Given the description of an element on the screen output the (x, y) to click on. 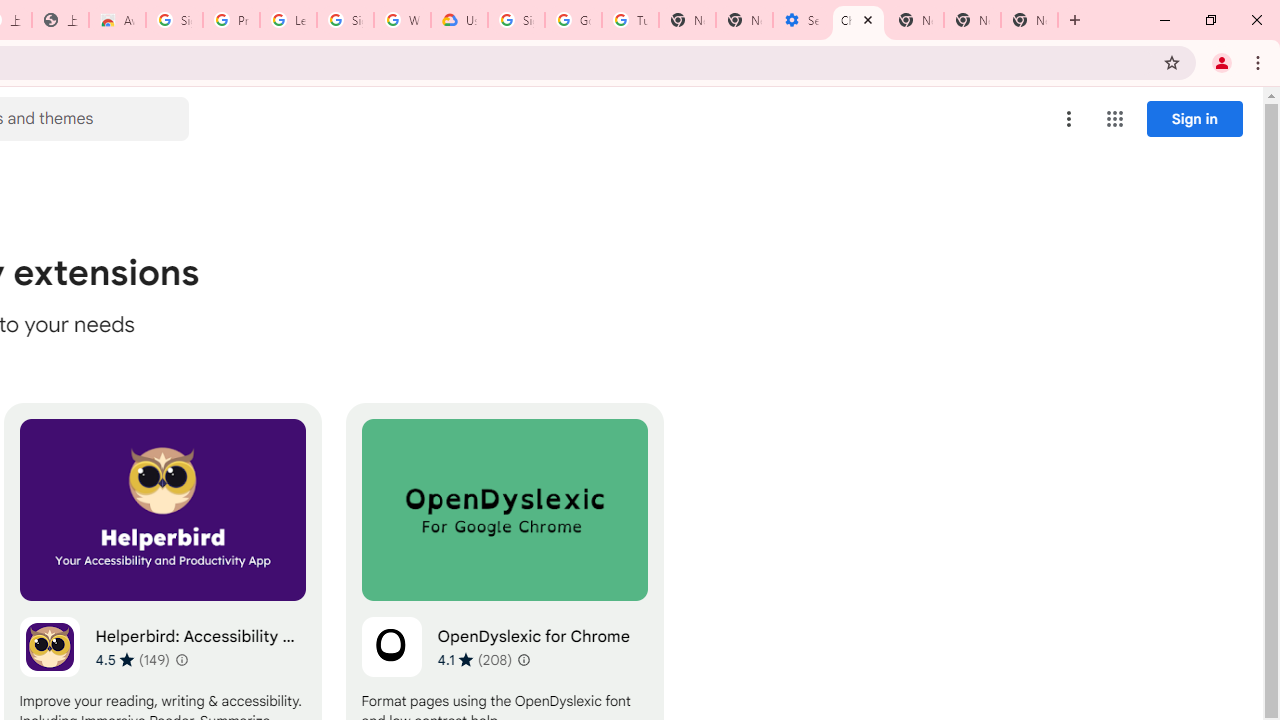
Google Account Help (573, 20)
Sign in - Google Accounts (345, 20)
Awesome Screen Recorder & Screenshot - Chrome Web Store (116, 20)
New Tab (1029, 20)
New Tab (915, 20)
